Given the description of an element on the screen output the (x, y) to click on. 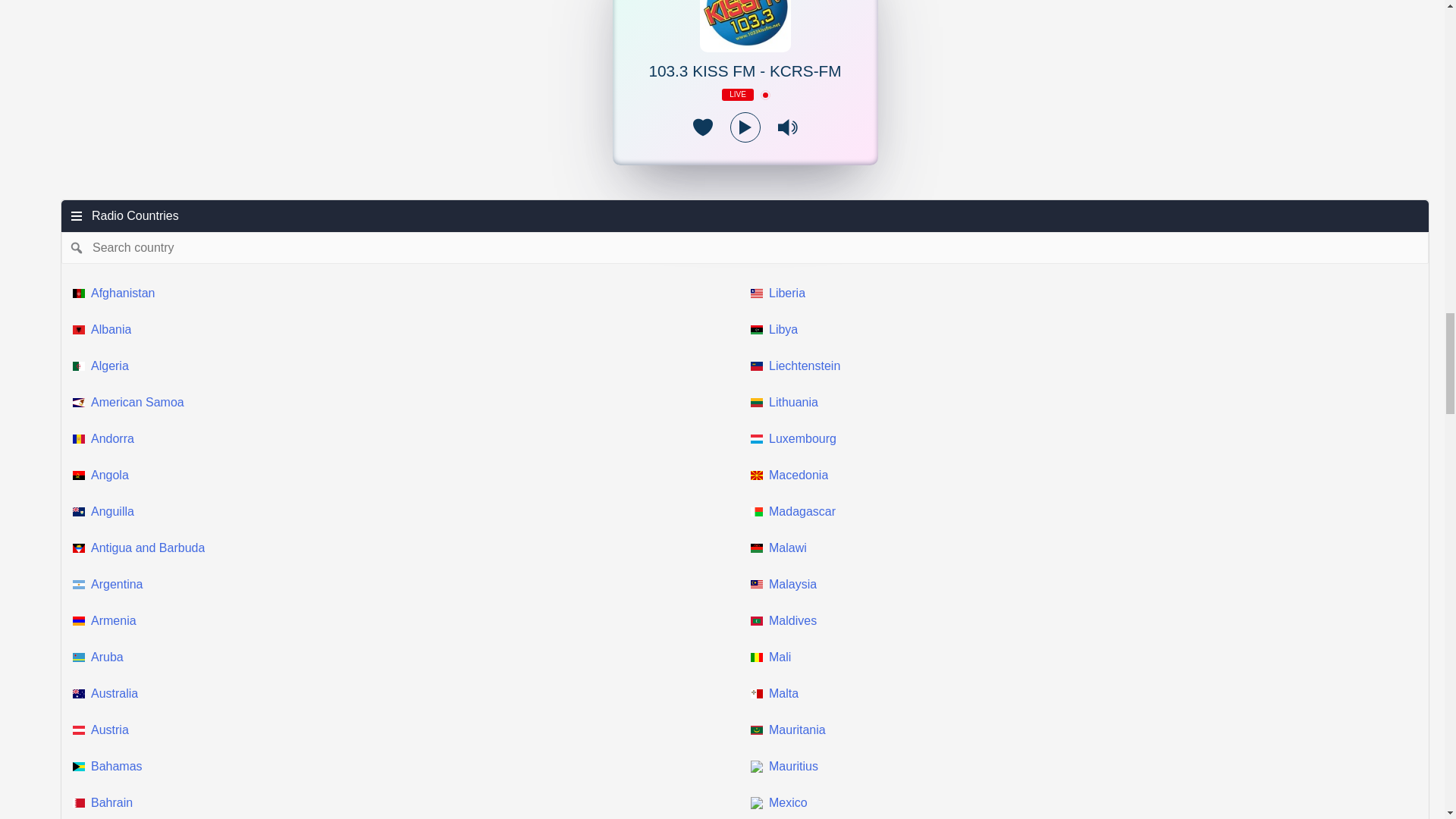
Angola (405, 475)
Albania (405, 330)
Algeria (405, 366)
Anguilla (405, 511)
Armenia (405, 620)
Aruba (405, 657)
Andorra (405, 438)
Argentina (405, 584)
Afghanistan (405, 293)
American Samoa (405, 402)
